Given the description of an element on the screen output the (x, y) to click on. 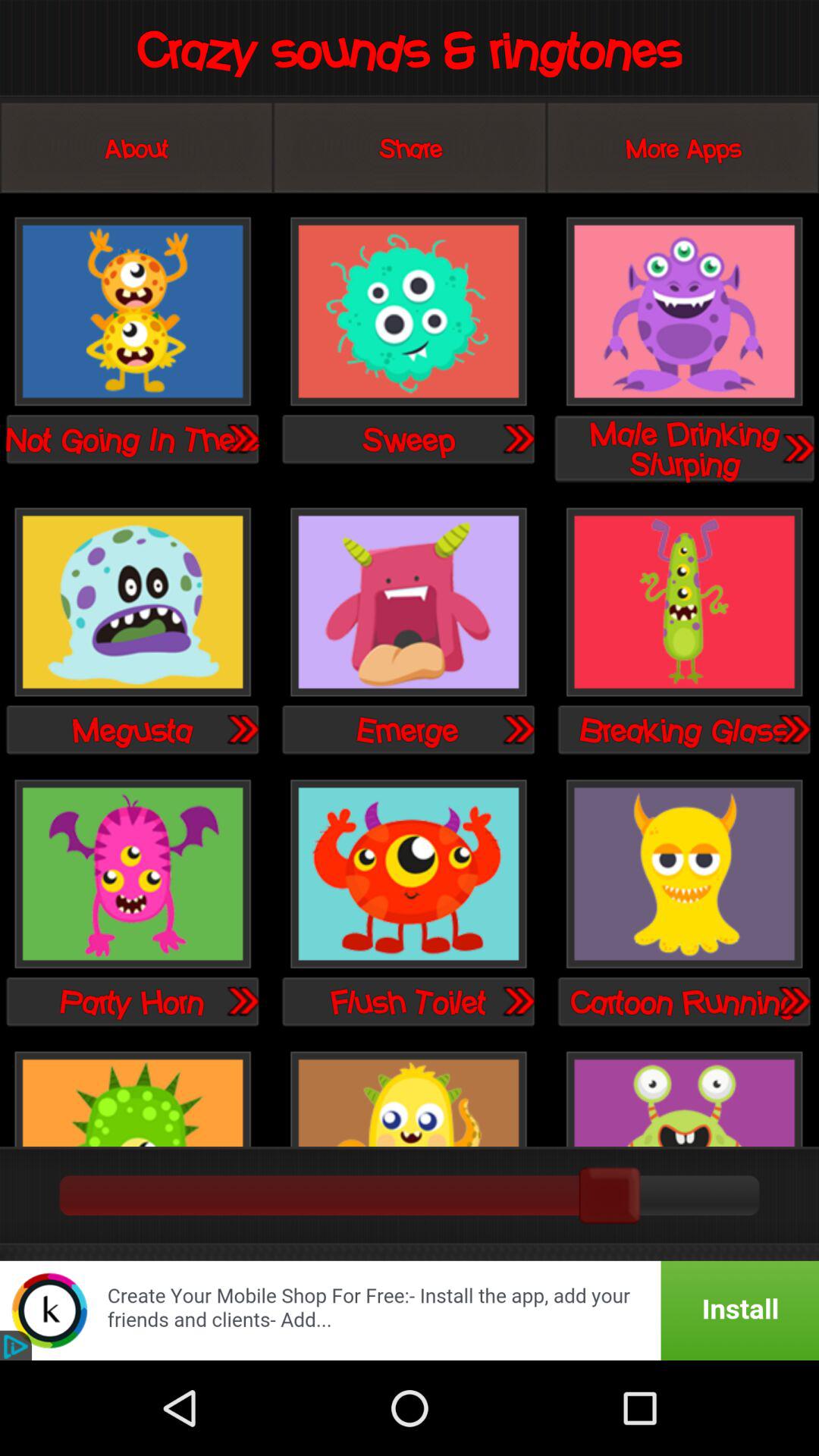
select emerge sound (408, 602)
